Given the description of an element on the screen output the (x, y) to click on. 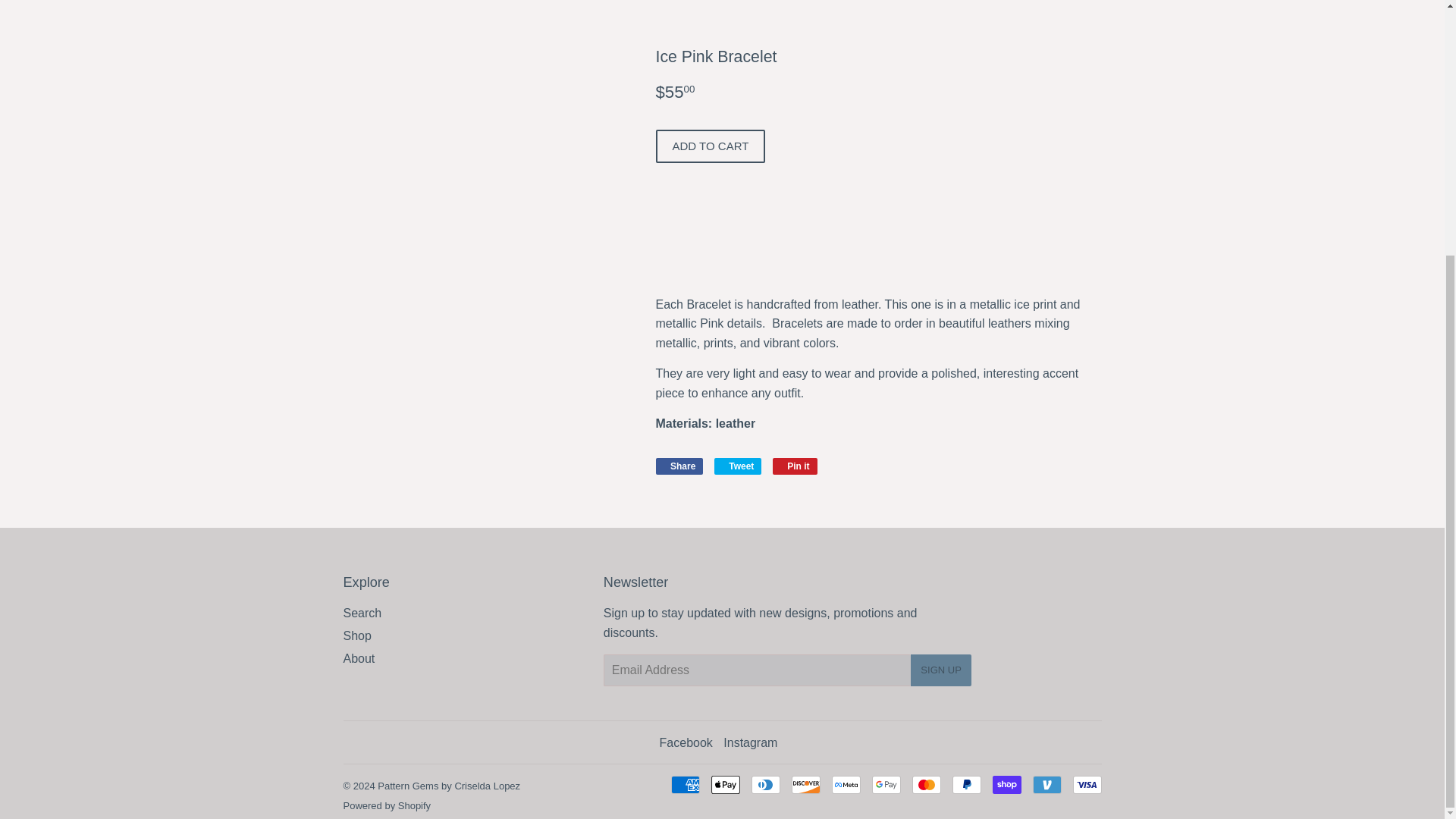
Meta Pay (845, 784)
Search (361, 612)
Facebook (686, 742)
Apple Pay (725, 784)
Pattern Gems by Criselda Lopez on Facebook (686, 742)
SIGN UP (941, 670)
Powered by Shopify (386, 805)
Instagram (750, 742)
Visa (1085, 784)
Tweet on Twitter (737, 466)
Pattern Gems by Criselda Lopez (448, 785)
Mastercard (925, 784)
Pin on Pinterest (794, 466)
Diners Club (794, 466)
